Given the description of an element on the screen output the (x, y) to click on. 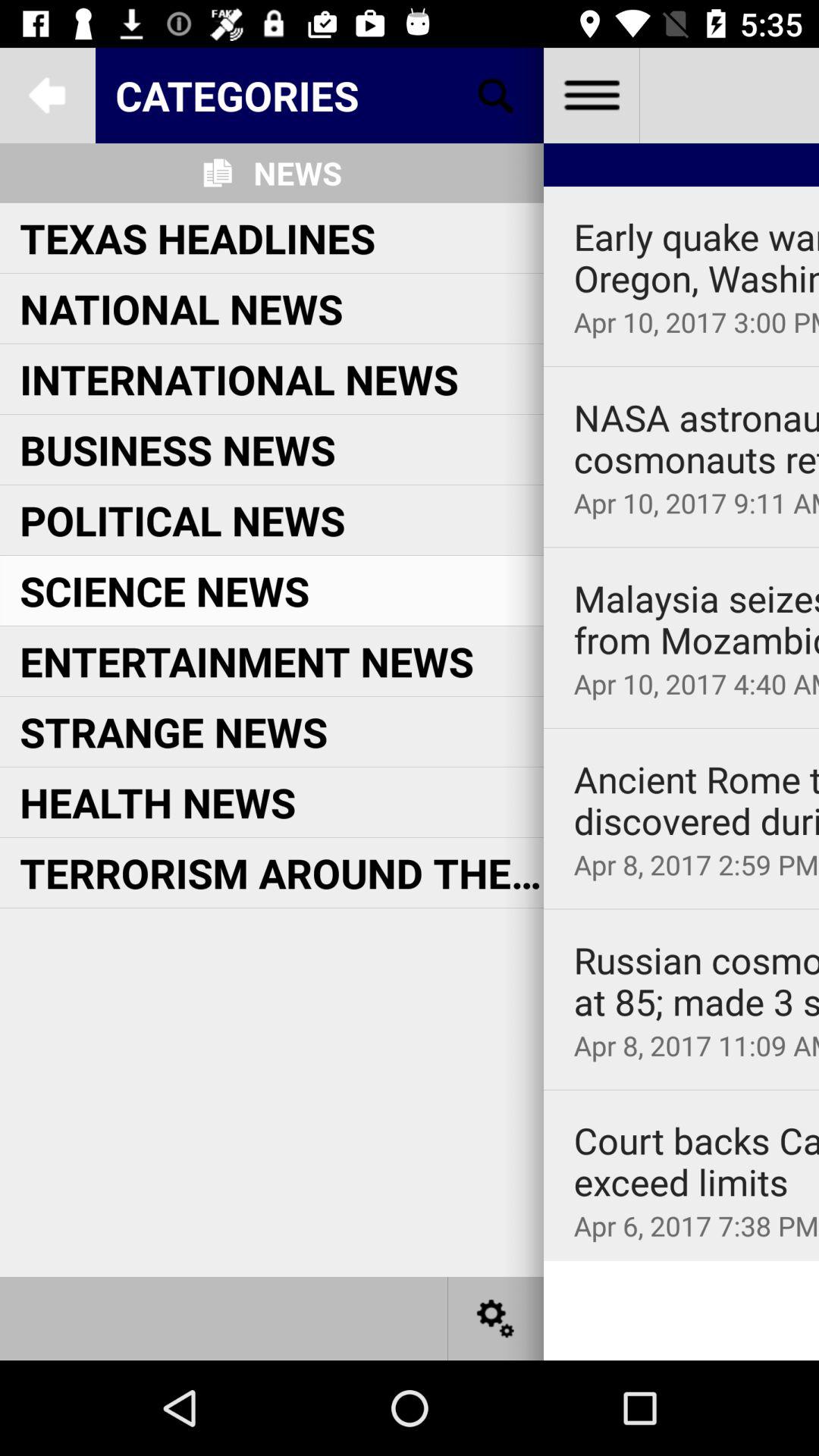
turn on icon below the apr 8 2017 icon (681, 1089)
